Given the description of an element on the screen output the (x, y) to click on. 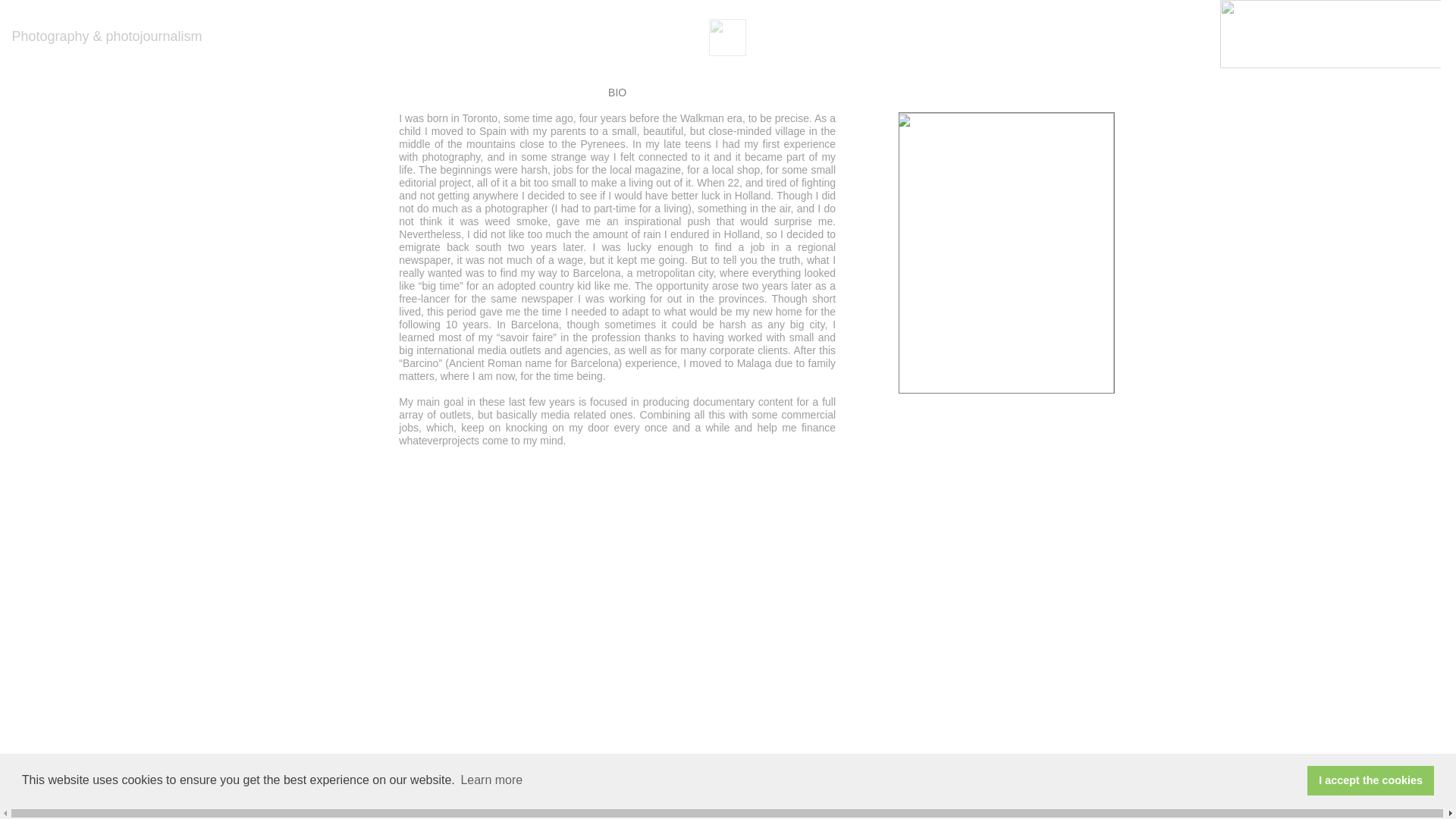
Privacy (856, 808)
Learn more (491, 780)
I accept the cookies (1370, 780)
Terms and conditions (772, 808)
